Given the description of an element on the screen output the (x, y) to click on. 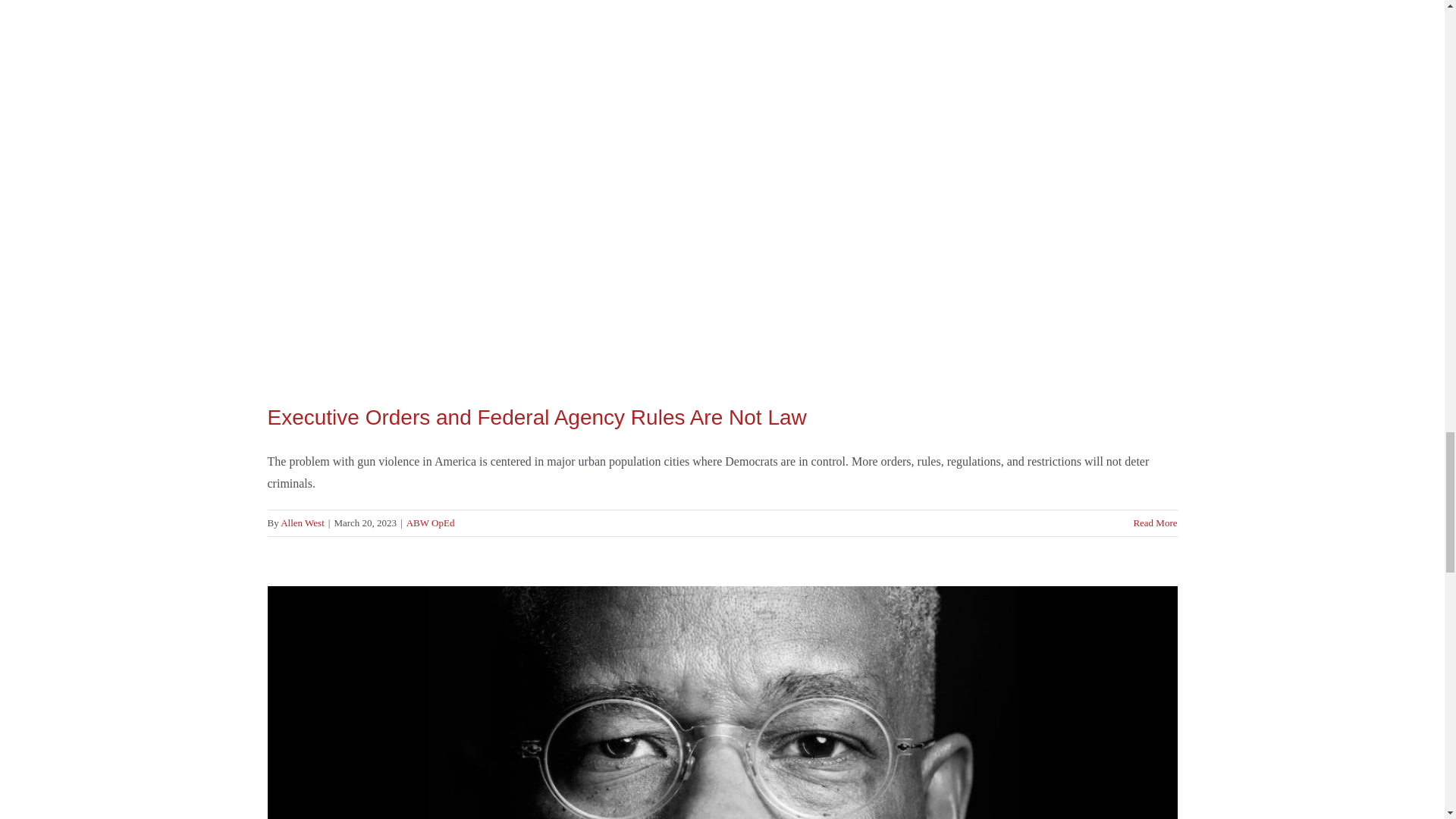
Posts by Allen West (302, 522)
